Given the description of an element on the screen output the (x, y) to click on. 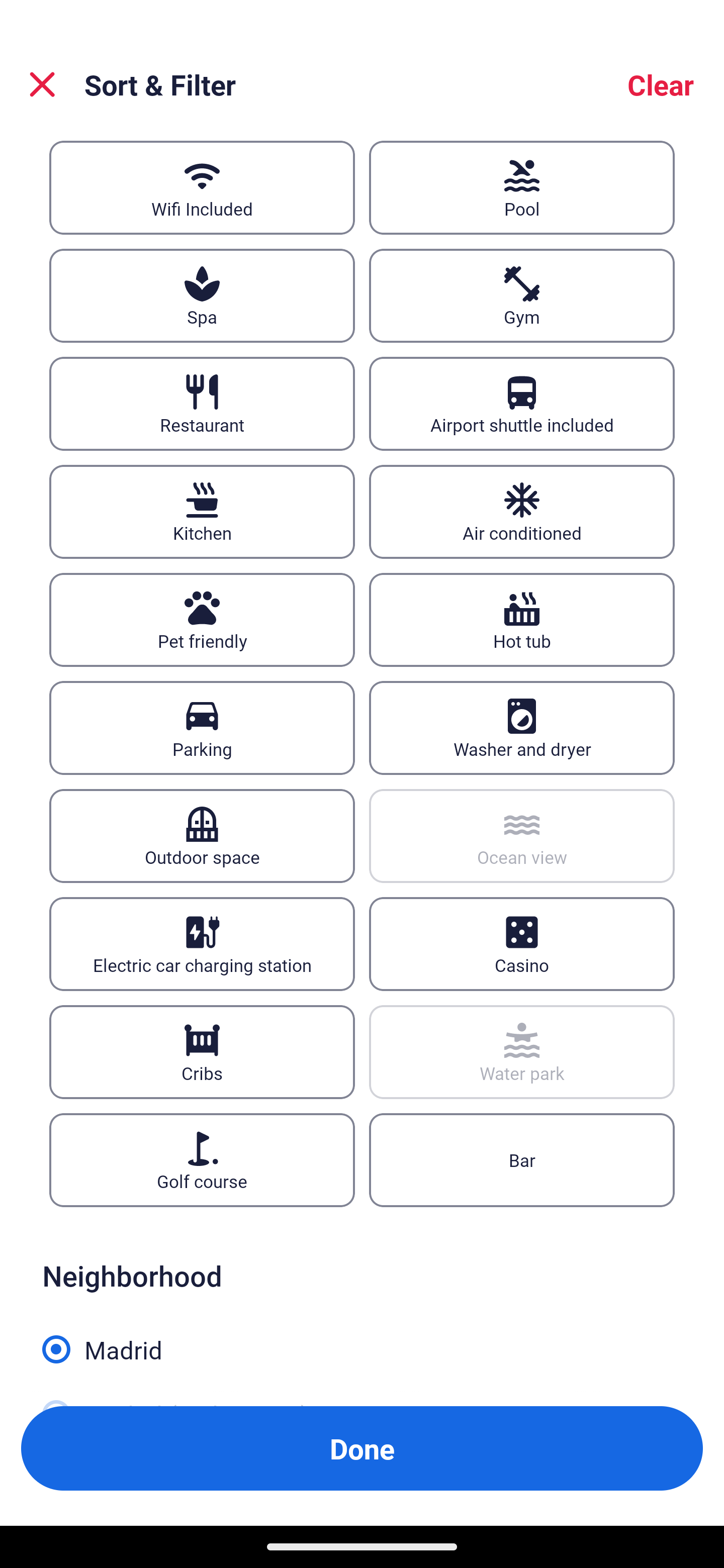
Close Sort and Filter (42, 84)
Clear (660, 84)
Wifi Included (201, 188)
Pool (521, 188)
Spa (201, 296)
Gym (521, 296)
Restaurant (201, 404)
Airport shuttle included (521, 404)
Kitchen (201, 511)
Air conditioned (521, 511)
Pet friendly (201, 619)
Hot tub (521, 619)
Parking (201, 727)
Washer and dryer (521, 727)
Outdoor space (201, 835)
Ocean view (521, 835)
Electric car charging station (201, 943)
Casino (521, 943)
Cribs (201, 1052)
Water park (521, 1052)
Golf course (201, 1160)
Bar (521, 1160)
Apply and close Sort and Filter Done (361, 1448)
